Given the description of an element on the screen output the (x, y) to click on. 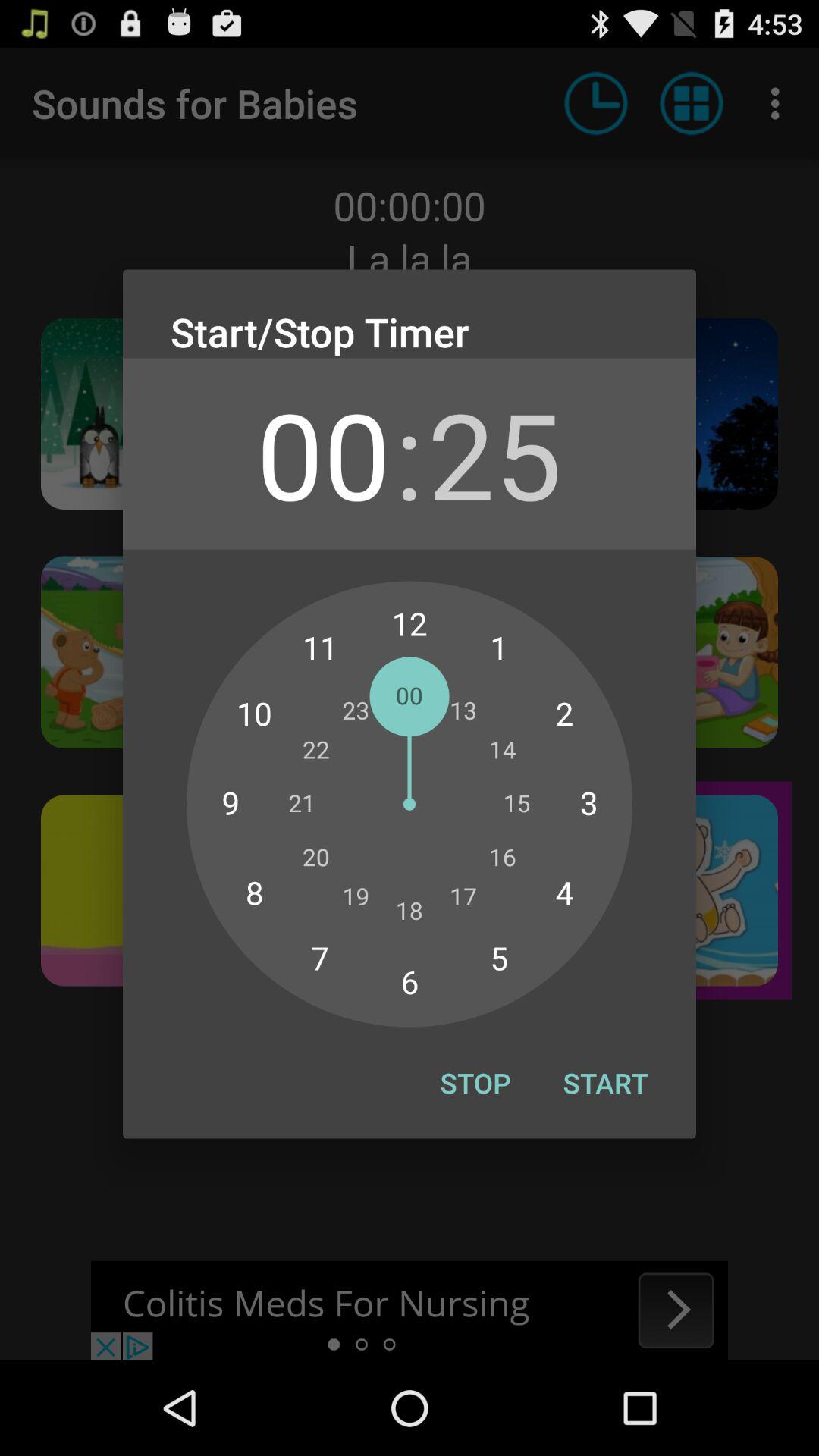
tap the icon to the right of the : icon (494, 453)
